Given the description of an element on the screen output the (x, y) to click on. 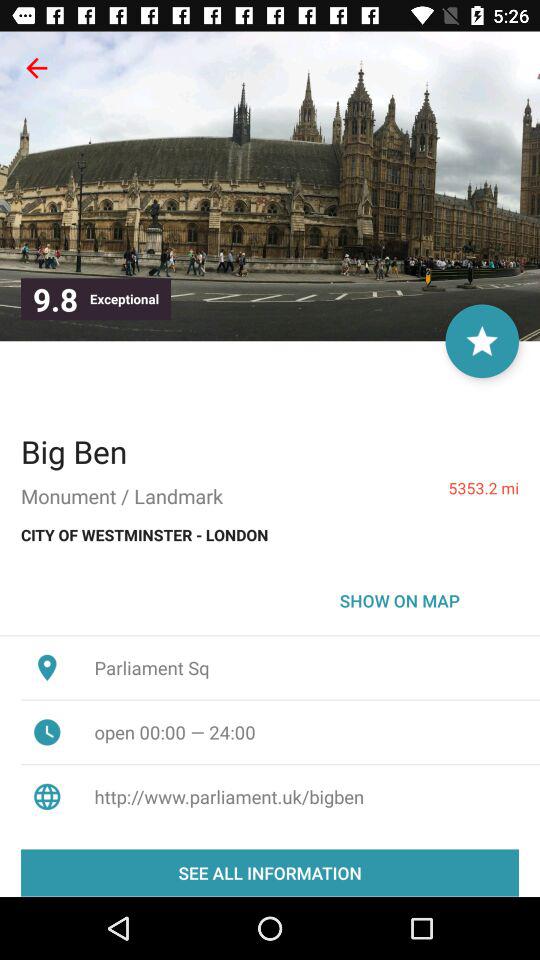
add to favourite (482, 341)
